Given the description of an element on the screen output the (x, y) to click on. 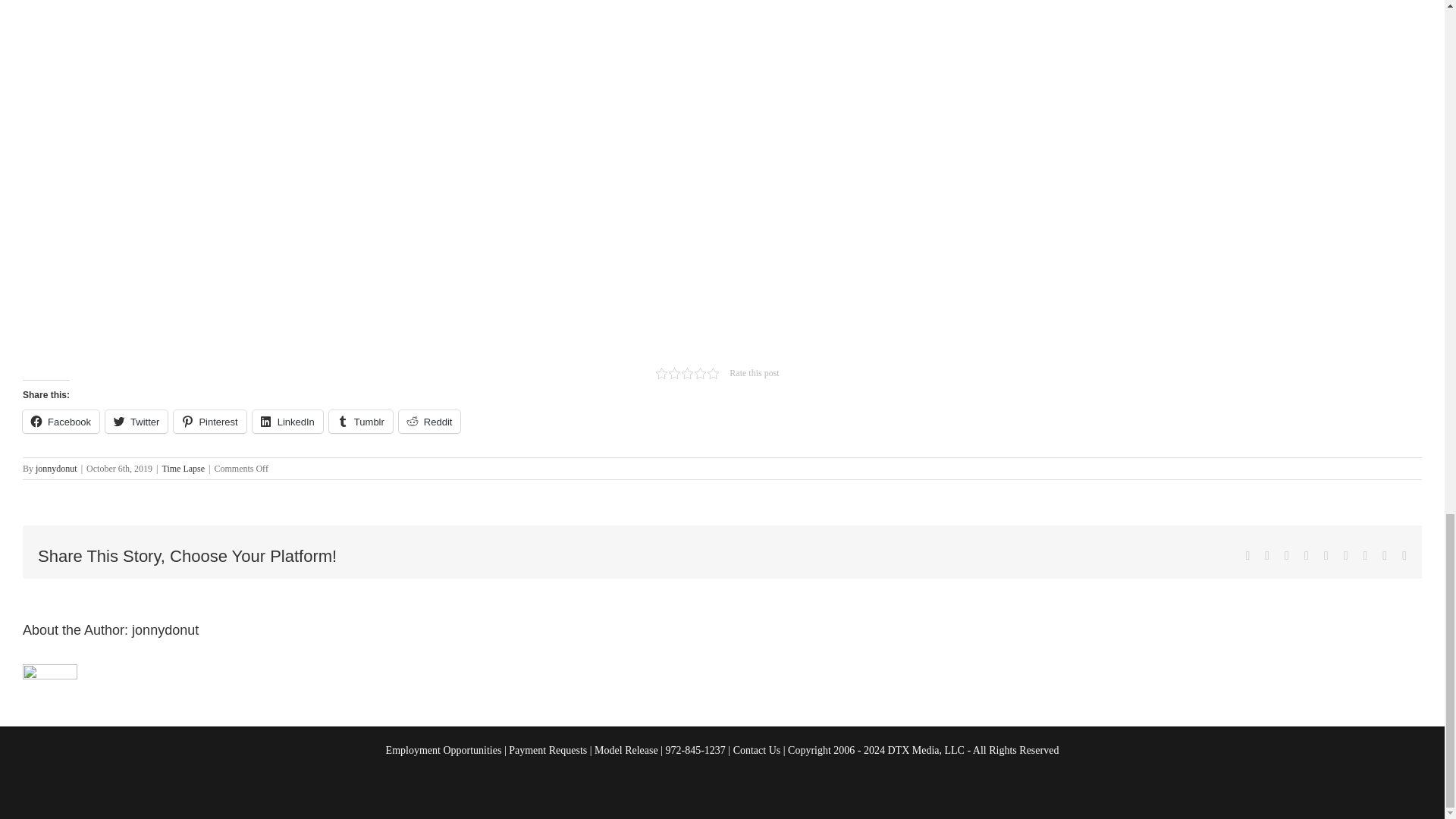
Click to share on Pinterest (209, 421)
Click to share on Facebook (61, 421)
Click to share on Reddit (429, 421)
Posts by jonnydonut (55, 468)
Click to share on Tumblr (361, 421)
Click to share on LinkedIn (287, 421)
Click to share on Twitter (135, 421)
